Given the description of an element on the screen output the (x, y) to click on. 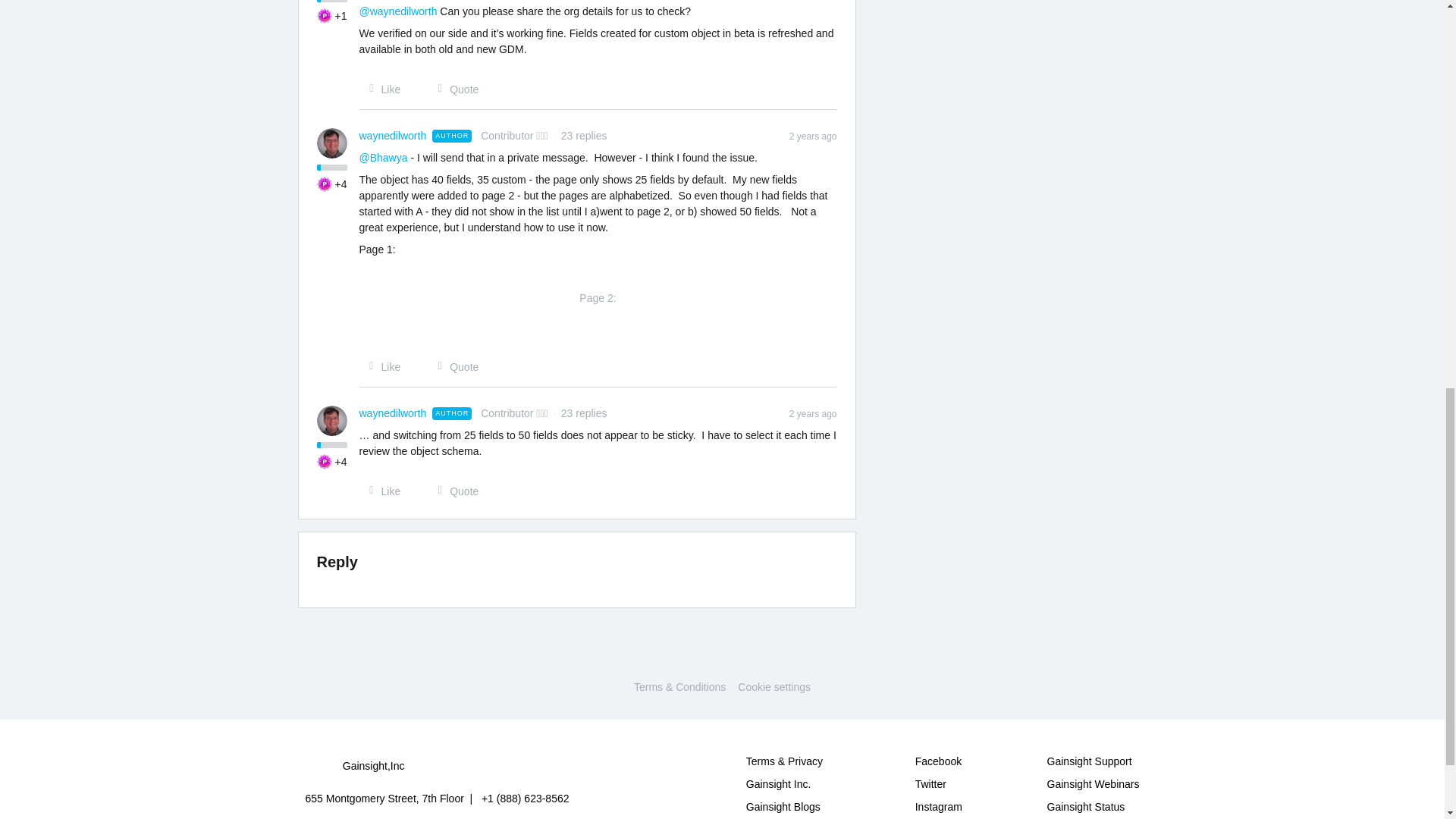
Visit Gainsight.com (722, 655)
Pulse 2024 Attendee (324, 183)
waynedilworth (392, 135)
2 years ago (813, 135)
Pulse 2024 Attendee (324, 461)
waynedilworth (392, 135)
Like (380, 366)
Like (380, 89)
Quote (453, 89)
Pulse 2024 Attendee (324, 15)
waynedilworth (392, 413)
